Given the description of an element on the screen output the (x, y) to click on. 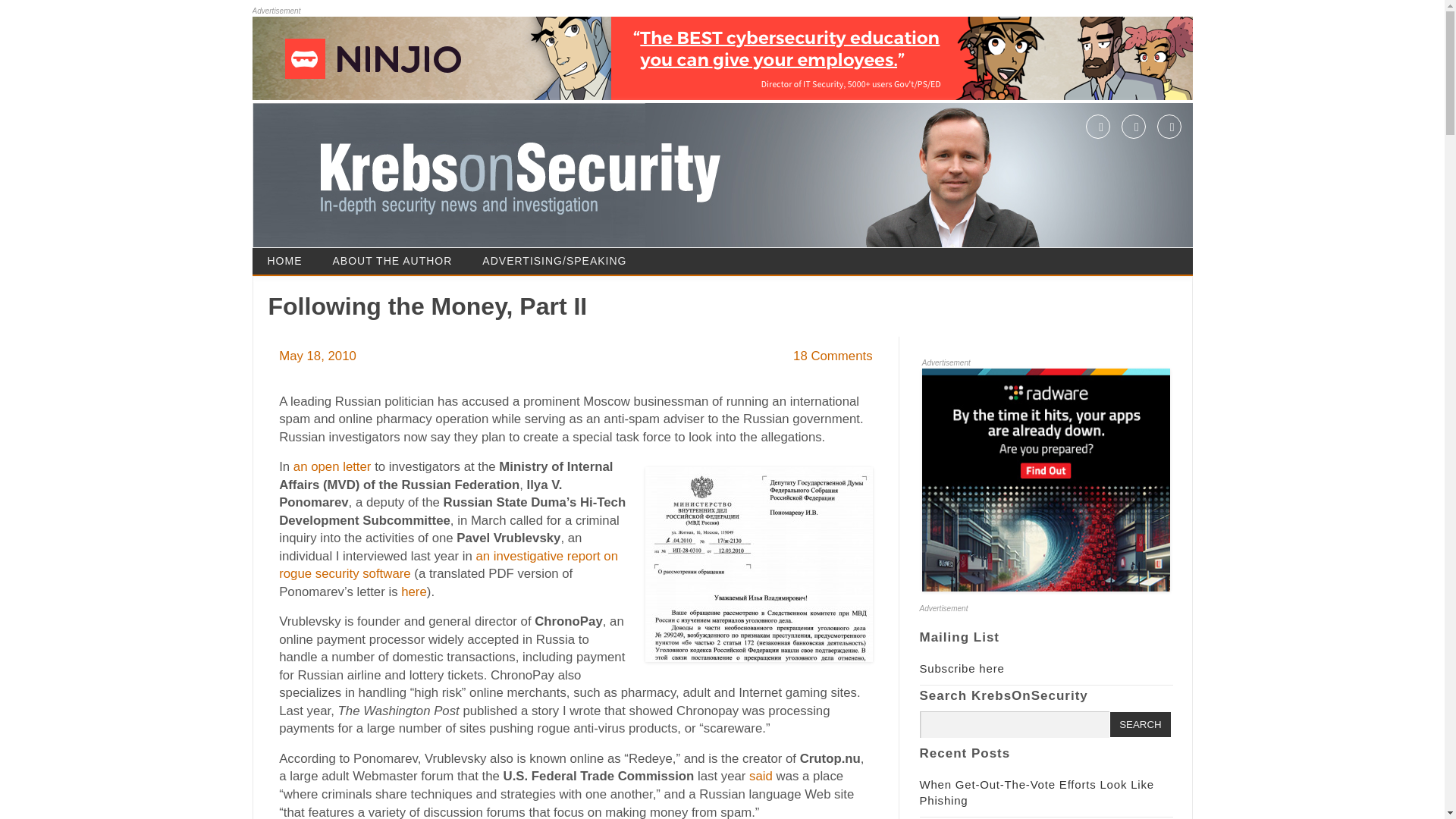
Skip to content (764, 253)
here (413, 591)
ABOUT THE AUTHOR (392, 261)
an investigative report on rogue security software (448, 564)
Skip to content (764, 253)
Search (1139, 724)
an open letter (332, 466)
HOME (284, 261)
mvdimg (758, 563)
18 Comments (832, 355)
